Given the description of an element on the screen output the (x, y) to click on. 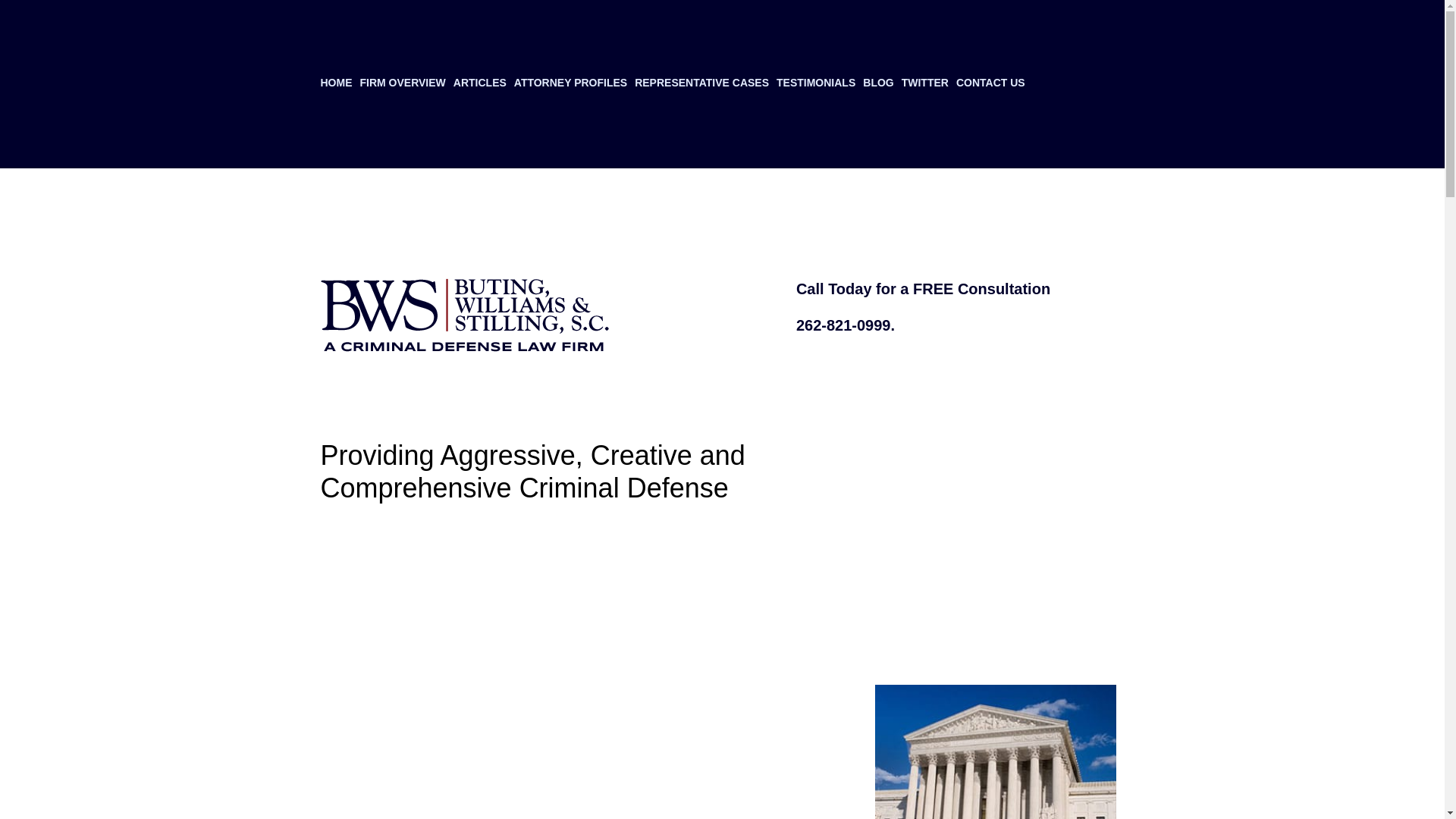
FIRM OVERVIEW (402, 84)
ATTORNEY PROFILES (570, 84)
i-default (995, 751)
CONTACT US (990, 84)
REPRESENTATIVE CASES (701, 84)
TESTIMONIALS (816, 84)
ARTICLES (479, 84)
TWITTER (925, 84)
